Given the description of an element on the screen output the (x, y) to click on. 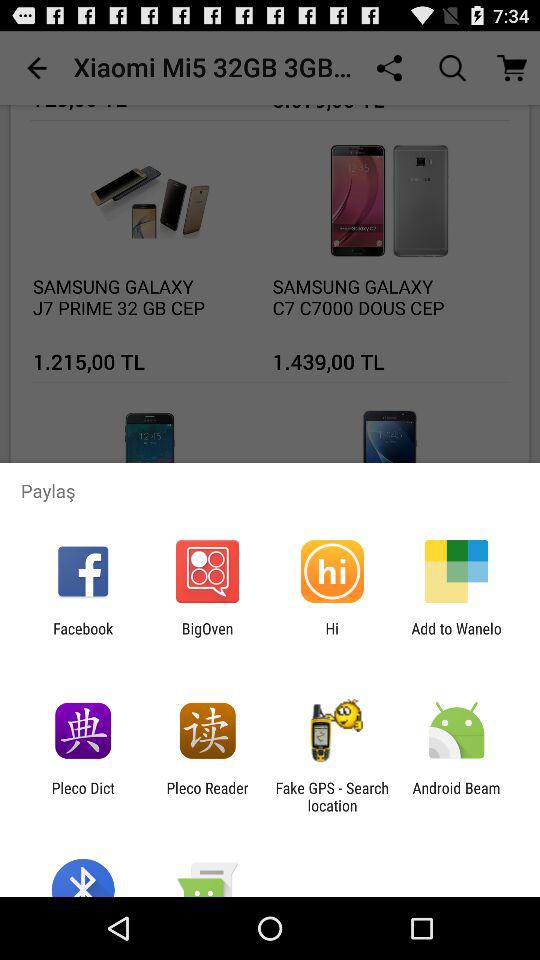
swipe until the pleco dict (82, 796)
